Given the description of an element on the screen output the (x, y) to click on. 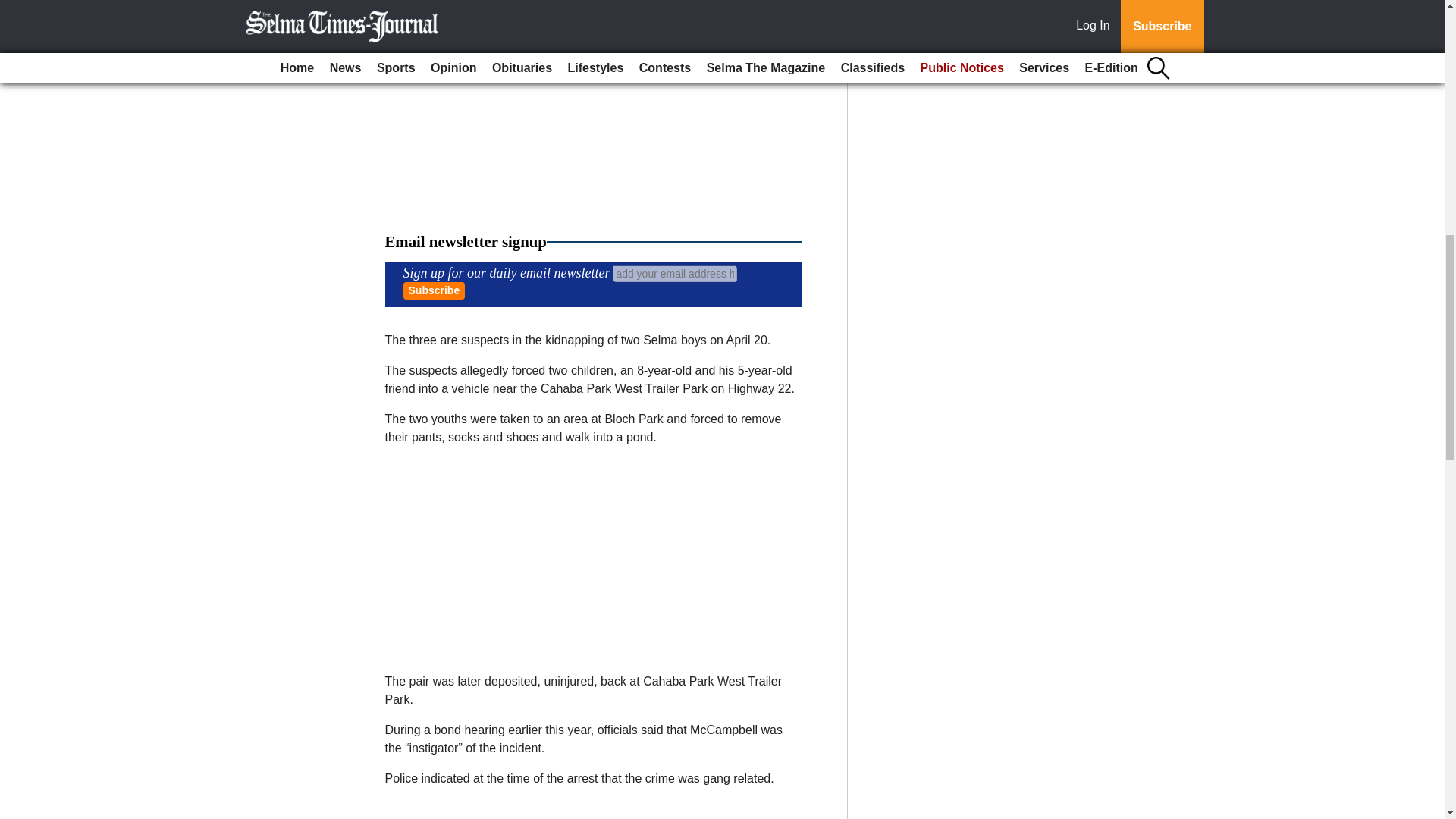
Subscribe (434, 290)
Subscribe (434, 290)
